Given the description of an element on the screen output the (x, y) to click on. 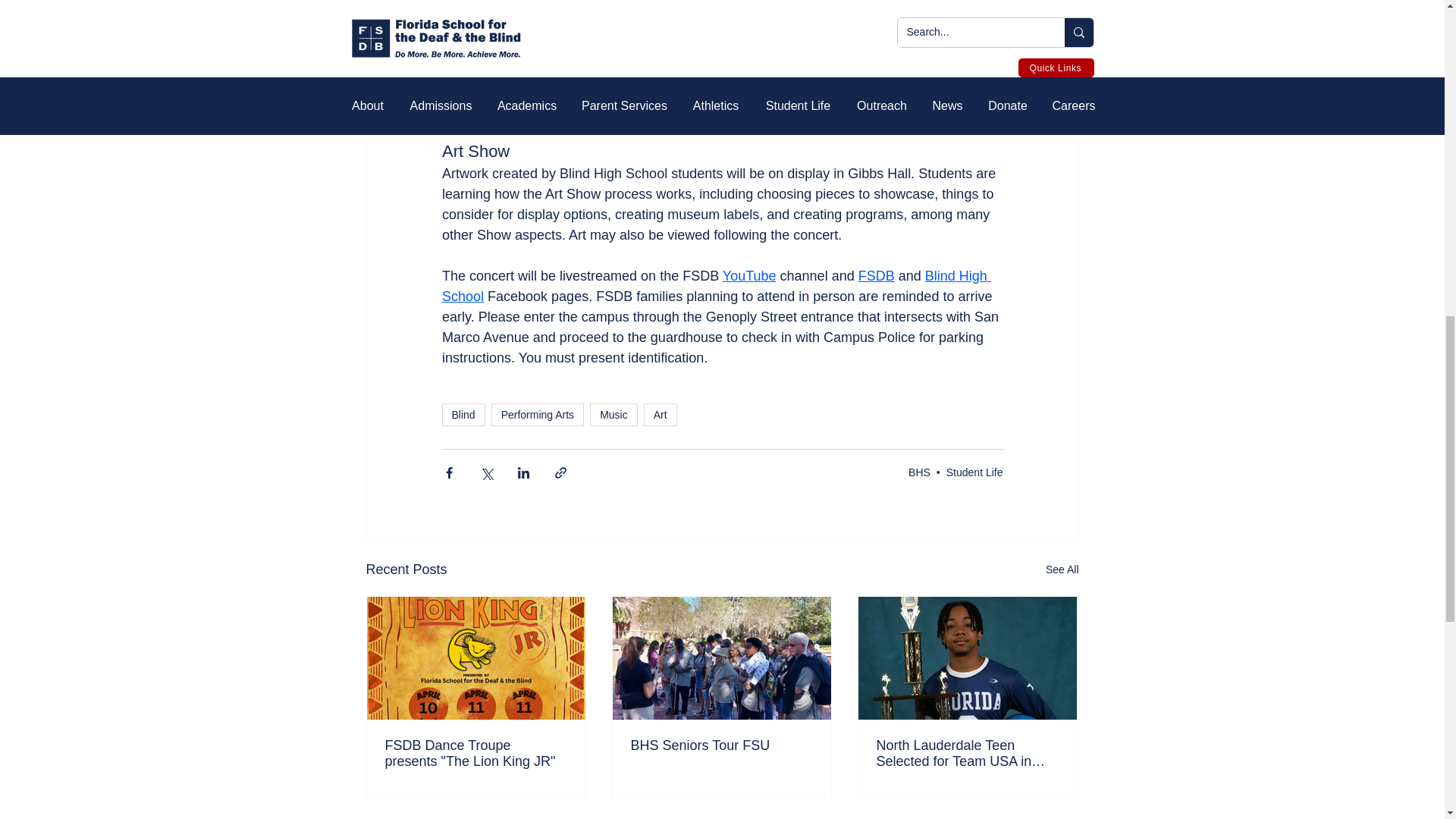
YouTube (749, 275)
Music (613, 414)
Art (660, 414)
FSDB (875, 275)
Student Life (974, 472)
Blind (462, 414)
Performing Arts (537, 414)
BHS (919, 472)
Blind High School (715, 285)
